Given the description of an element on the screen output the (x, y) to click on. 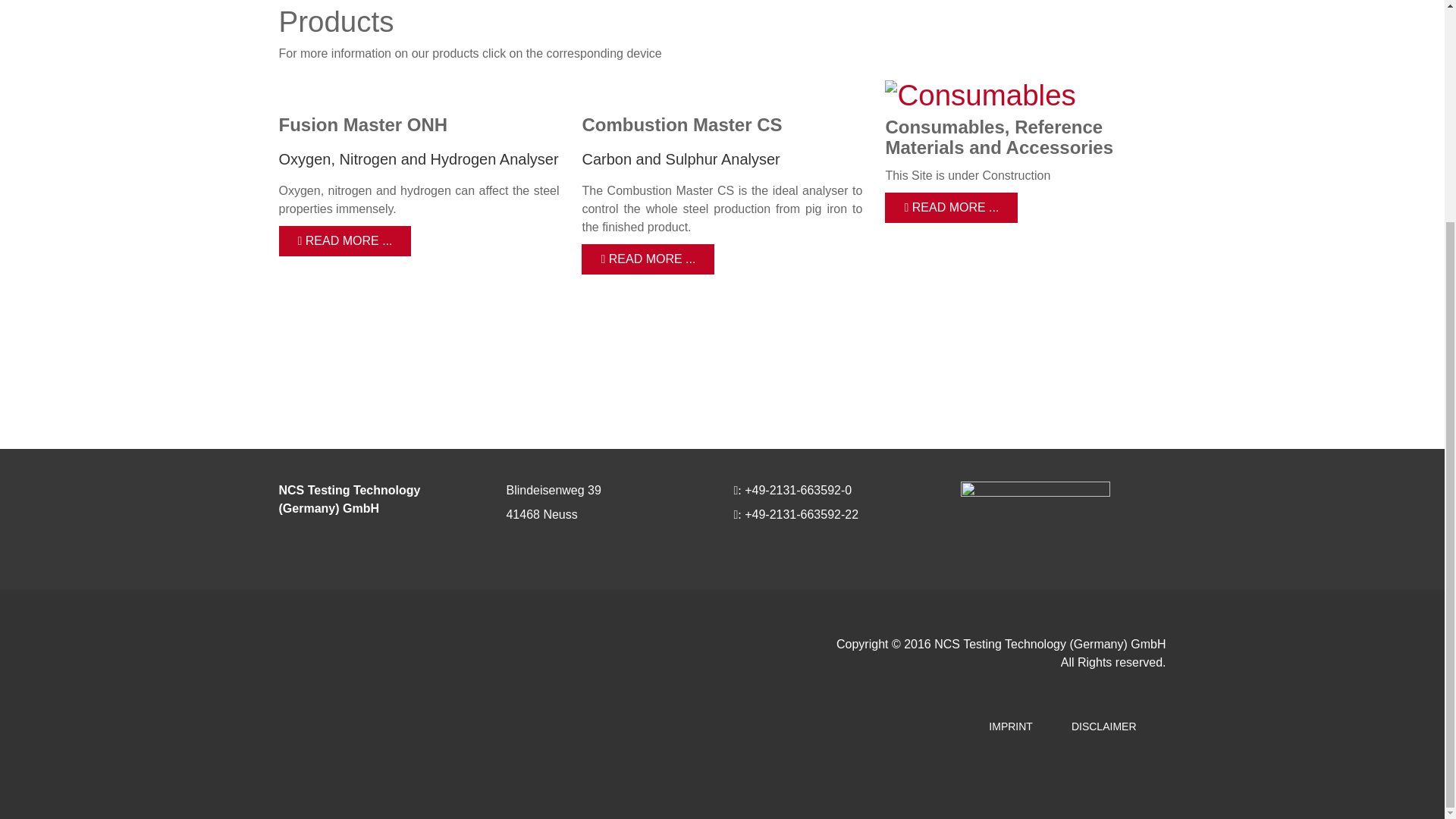
Twitter (319, 381)
DISCLAIMER (1103, 725)
YouTube (348, 381)
IMPRINT (1010, 725)
READ MORE ... (647, 259)
READ MORE ... (951, 207)
Facebook (290, 381)
READ MORE ... (345, 241)
